Given the description of an element on the screen output the (x, y) to click on. 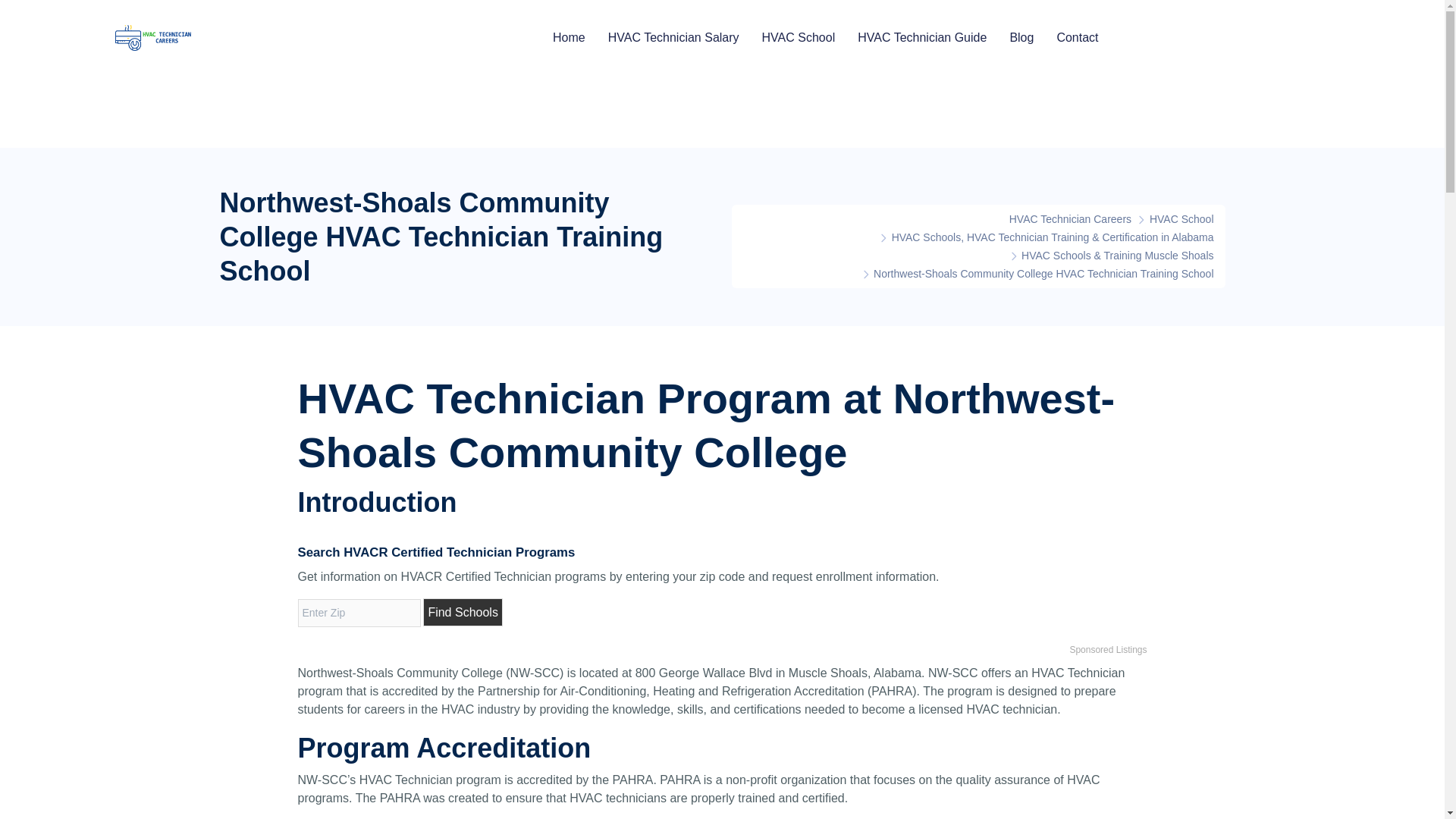
HVAC Technician Guide (922, 37)
Go to HVAC School. (1182, 218)
Go to HVAC Technician Careers. (1062, 218)
HVAC School (1182, 218)
Blog (1021, 37)
Home (569, 37)
HVAC Technician Careers (1062, 218)
HVAC Technician Salary (673, 37)
Find Schools (462, 612)
Contact (1077, 37)
HVAC School (798, 37)
Find Schools (462, 612)
